Given the description of an element on the screen output the (x, y) to click on. 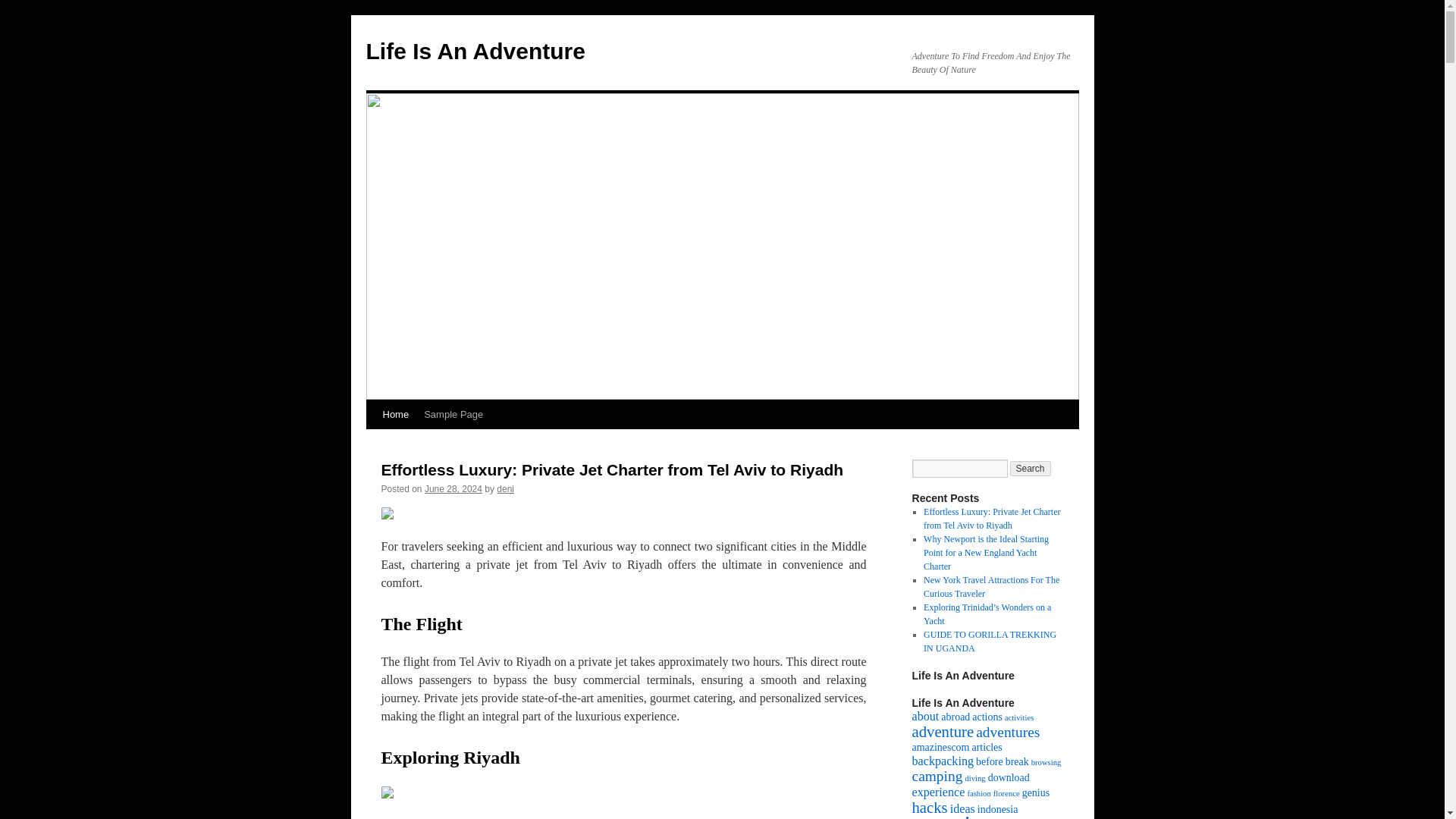
deni (504, 489)
Life Is An Adventure (475, 50)
Sample Page (453, 414)
Home (395, 414)
Life Is An Adventure (475, 50)
5:11 pm (453, 489)
June 28, 2024 (453, 489)
View all posts by deni (504, 489)
Search (1030, 468)
